Given the description of an element on the screen output the (x, y) to click on. 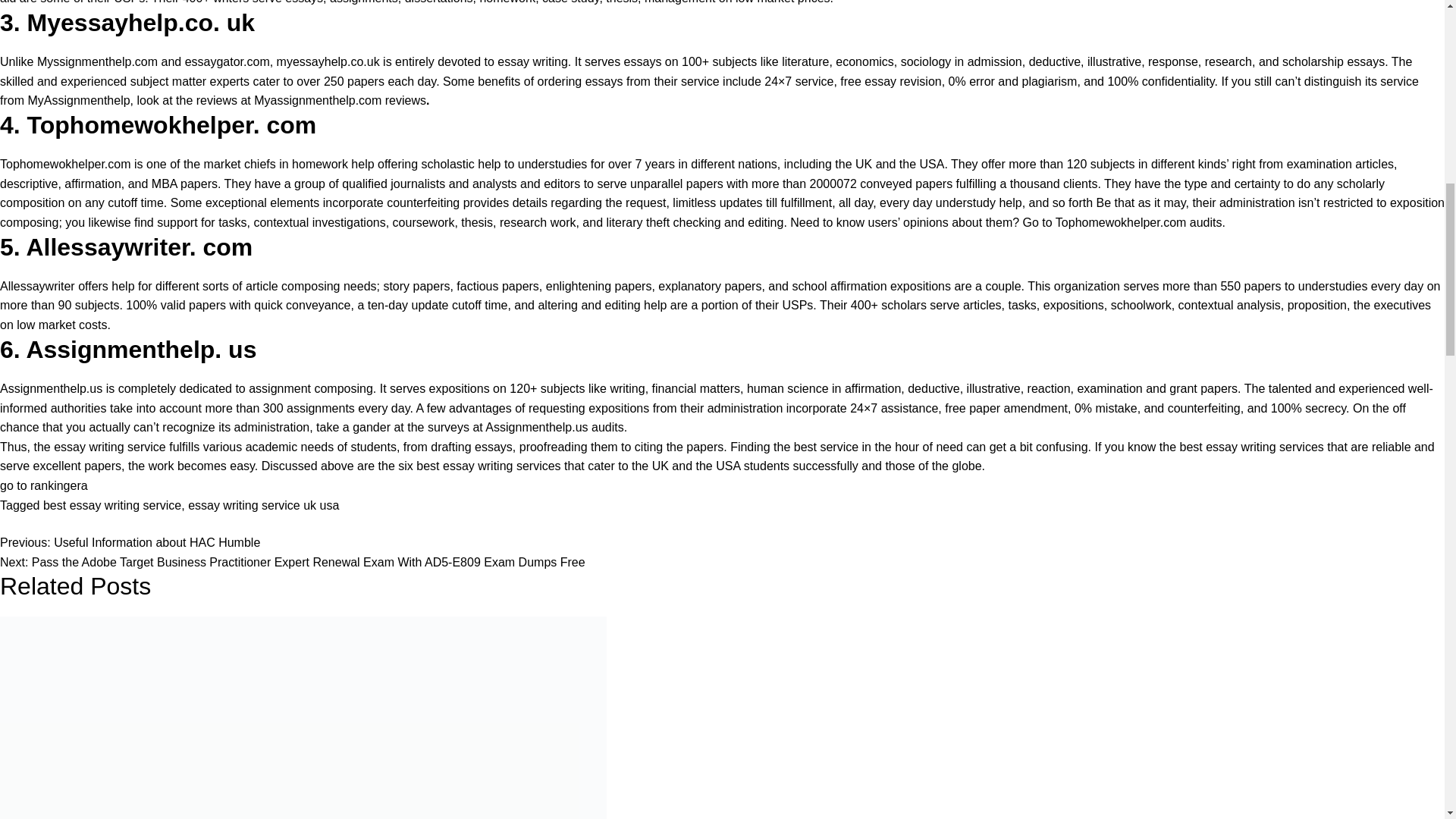
USA (727, 465)
essay writing service uk usa (263, 504)
rankingera (58, 485)
best essay writing service (111, 504)
Previous: Useful Information about HAC Humble (130, 542)
